Given the description of an element on the screen output the (x, y) to click on. 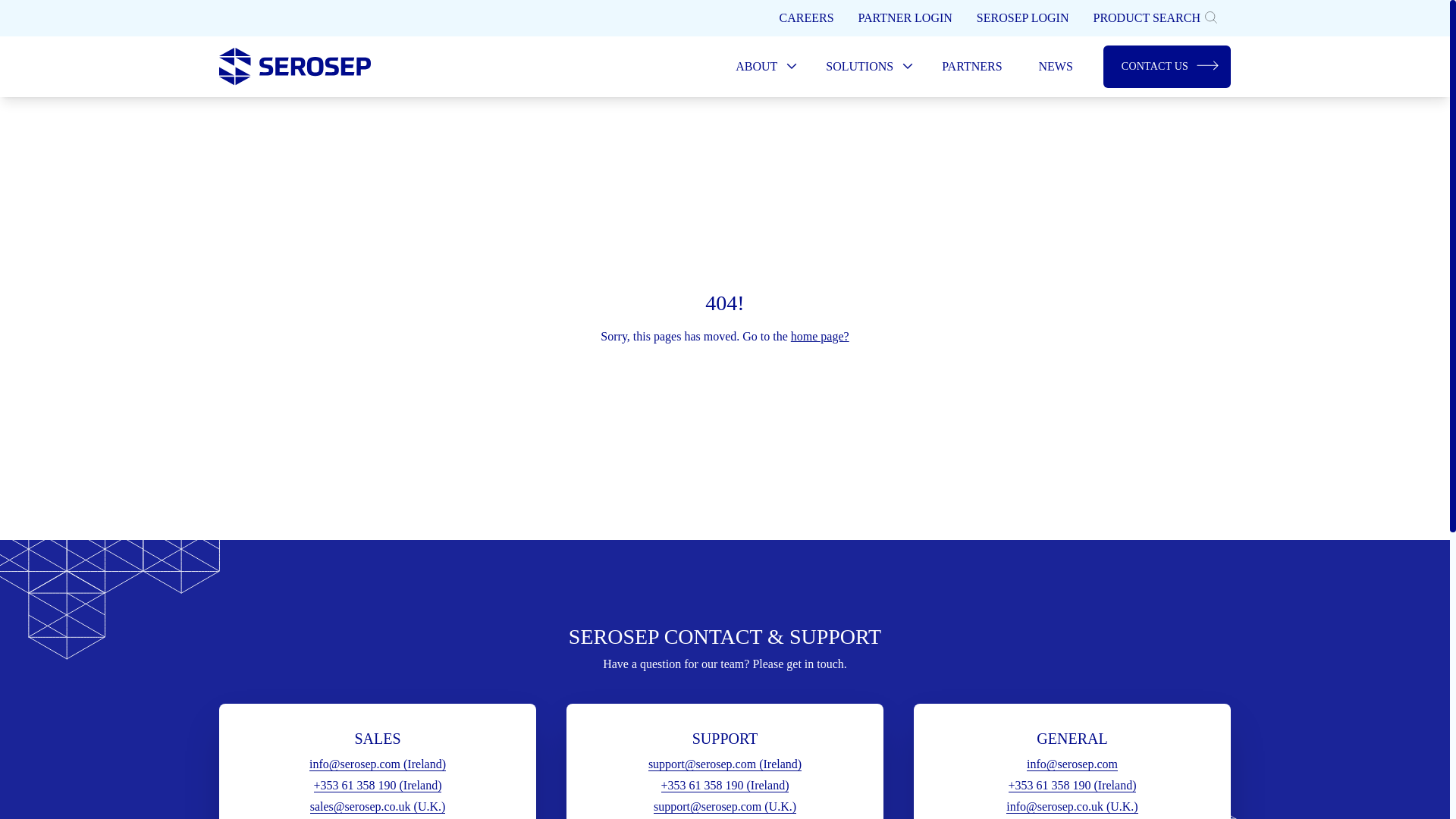
SOLUTIONS (865, 66)
PARTNERS (971, 66)
SEROSEP LOGIN (1022, 18)
NEWS (1055, 66)
PRODUCT SEARCH (1155, 18)
CONTACT US (1166, 66)
ABOUT (762, 66)
CAREERS (806, 18)
PARTNER LOGIN (904, 18)
